Given the description of an element on the screen output the (x, y) to click on. 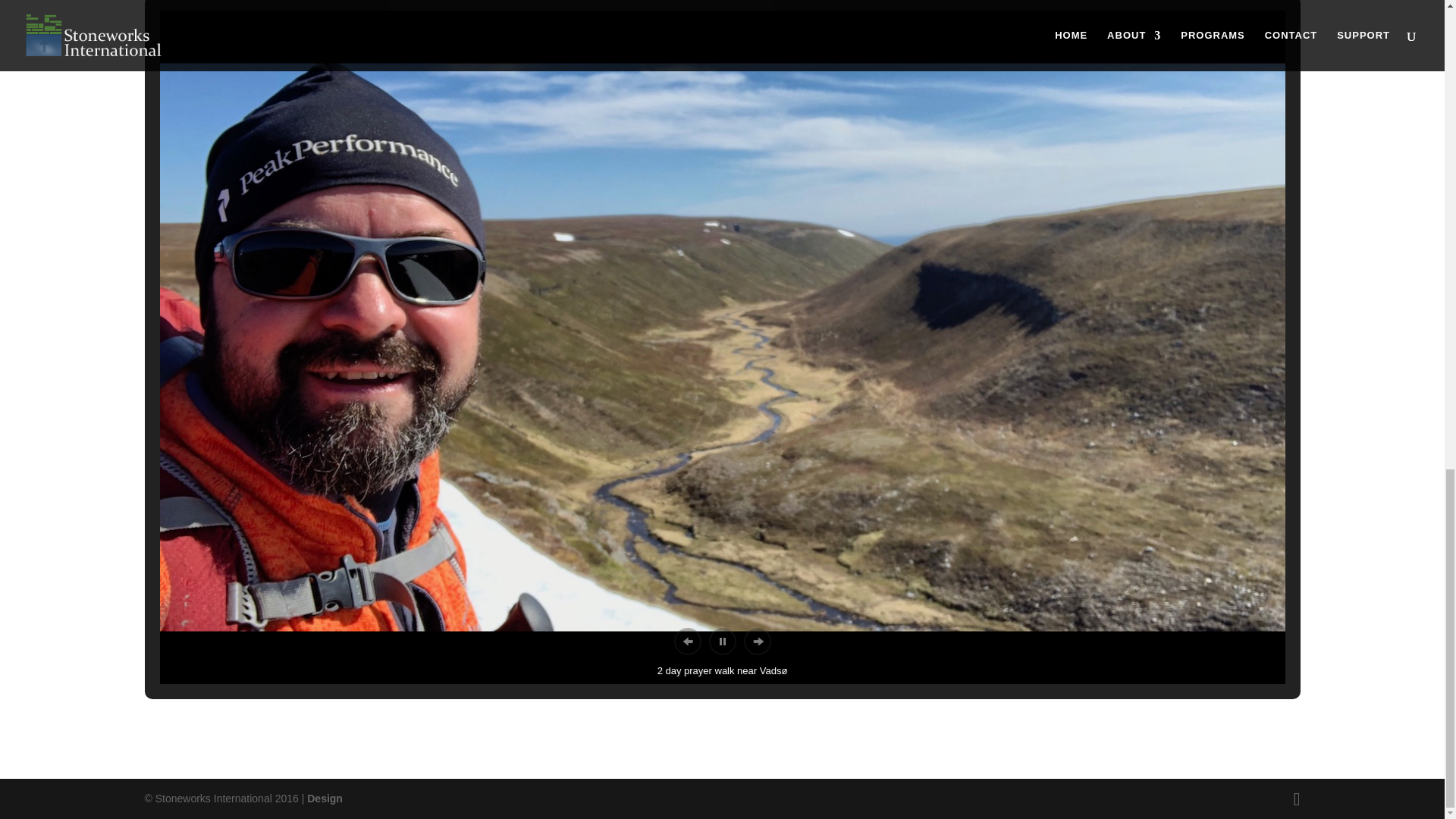
Design (324, 798)
